Given the description of an element on the screen output the (x, y) to click on. 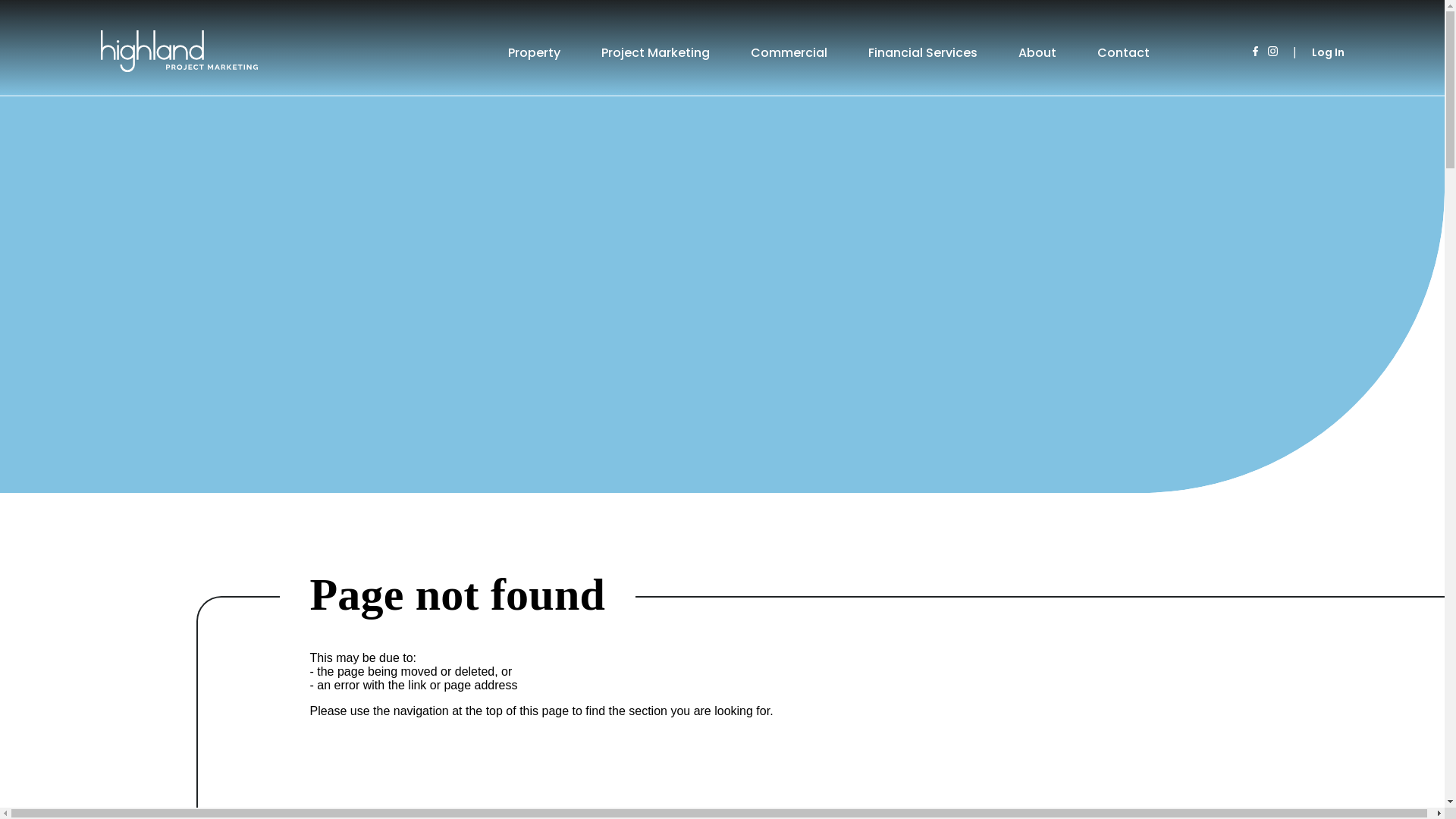
Commercial Element type: text (788, 51)
Property Element type: text (534, 51)
Log In Element type: text (1327, 51)
Financial Services Element type: text (922, 51)
Contact Element type: text (1123, 51)
About Element type: text (1037, 51)
Project Marketing Element type: text (655, 51)
